Given the description of an element on the screen output the (x, y) to click on. 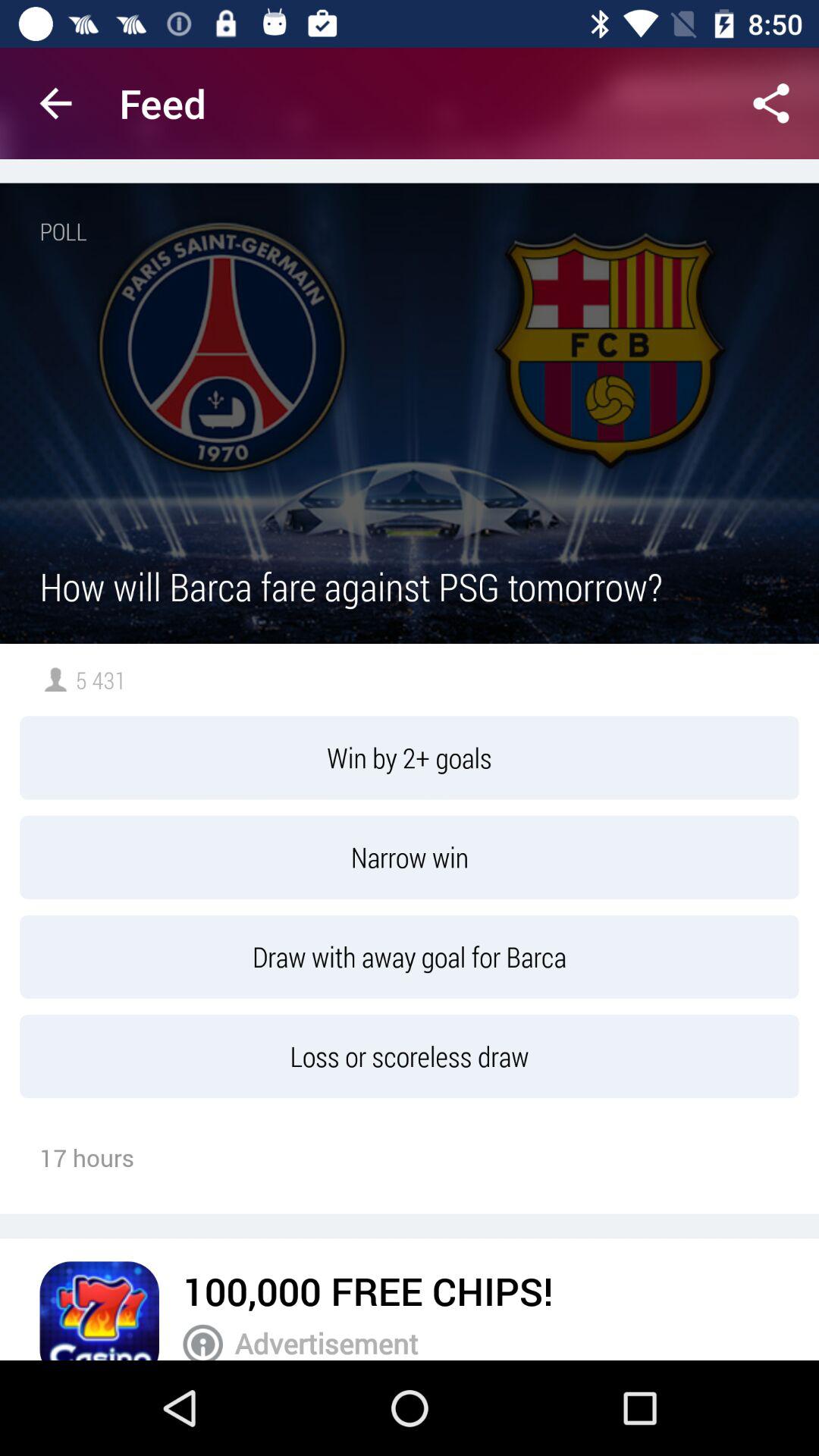
share the article (771, 103)
